Given the description of an element on the screen output the (x, y) to click on. 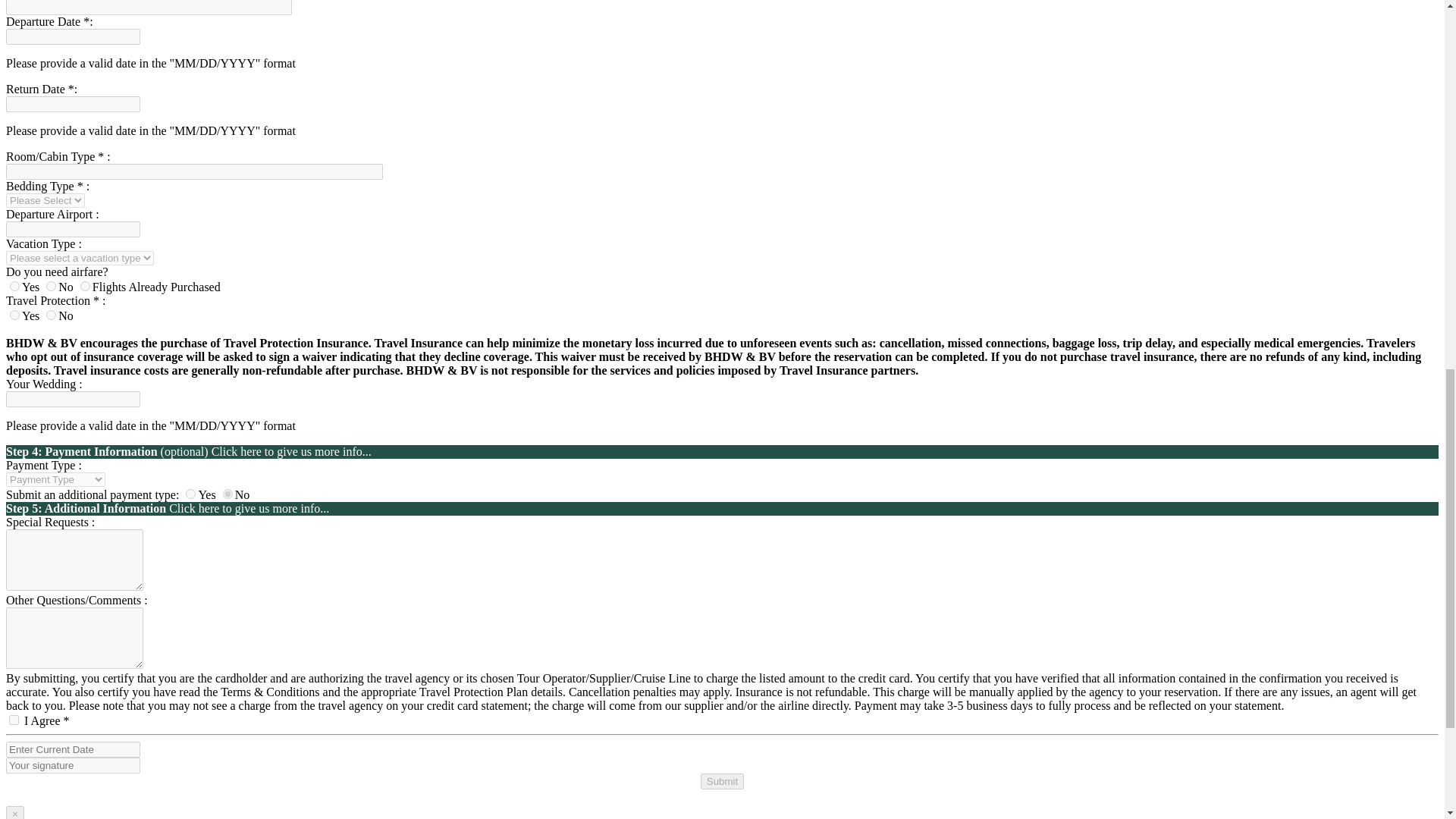
Submit (722, 781)
